Given the description of an element on the screen output the (x, y) to click on. 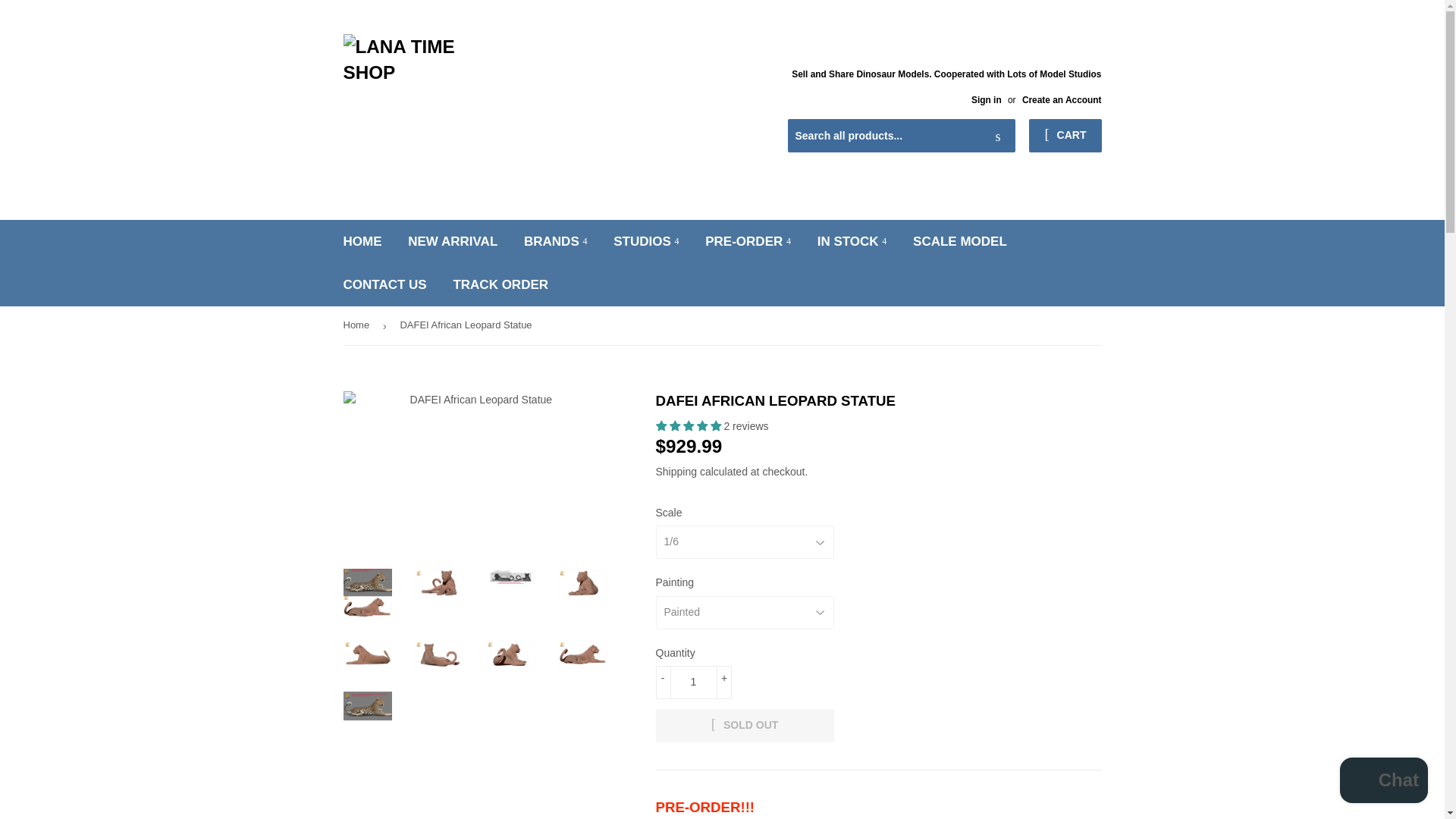
Search (997, 136)
Shopify online store chat (1383, 781)
CART (1064, 135)
1 (692, 682)
Sign in (986, 100)
Create an Account (1062, 100)
